Given the description of an element on the screen output the (x, y) to click on. 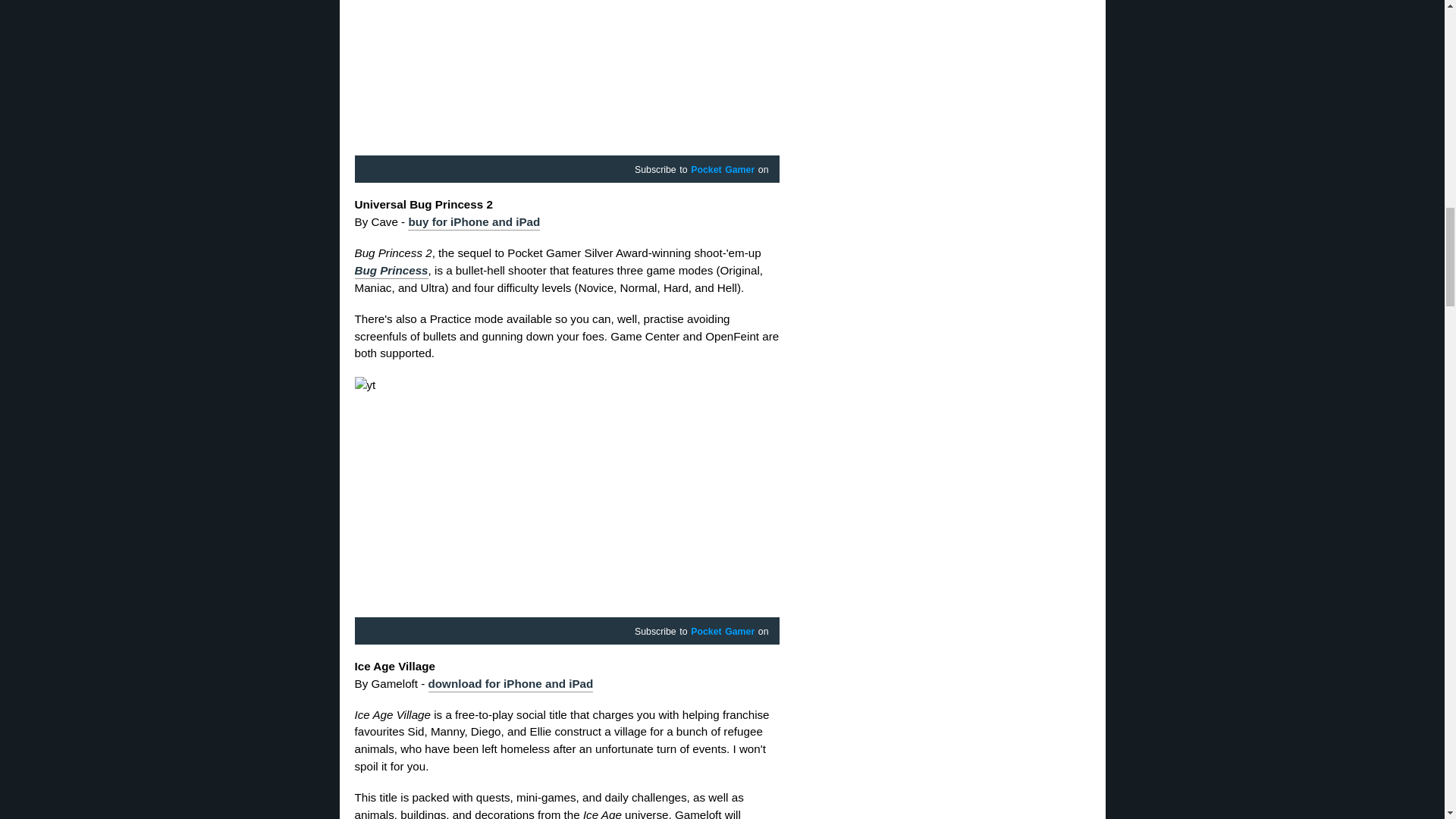
download for iPhone and iPad (511, 684)
buy for iPhone and iPad (473, 222)
Pocket Gamer (722, 632)
Pocket Gamer (722, 170)
Bug Princess (391, 271)
